Given the description of an element on the screen output the (x, y) to click on. 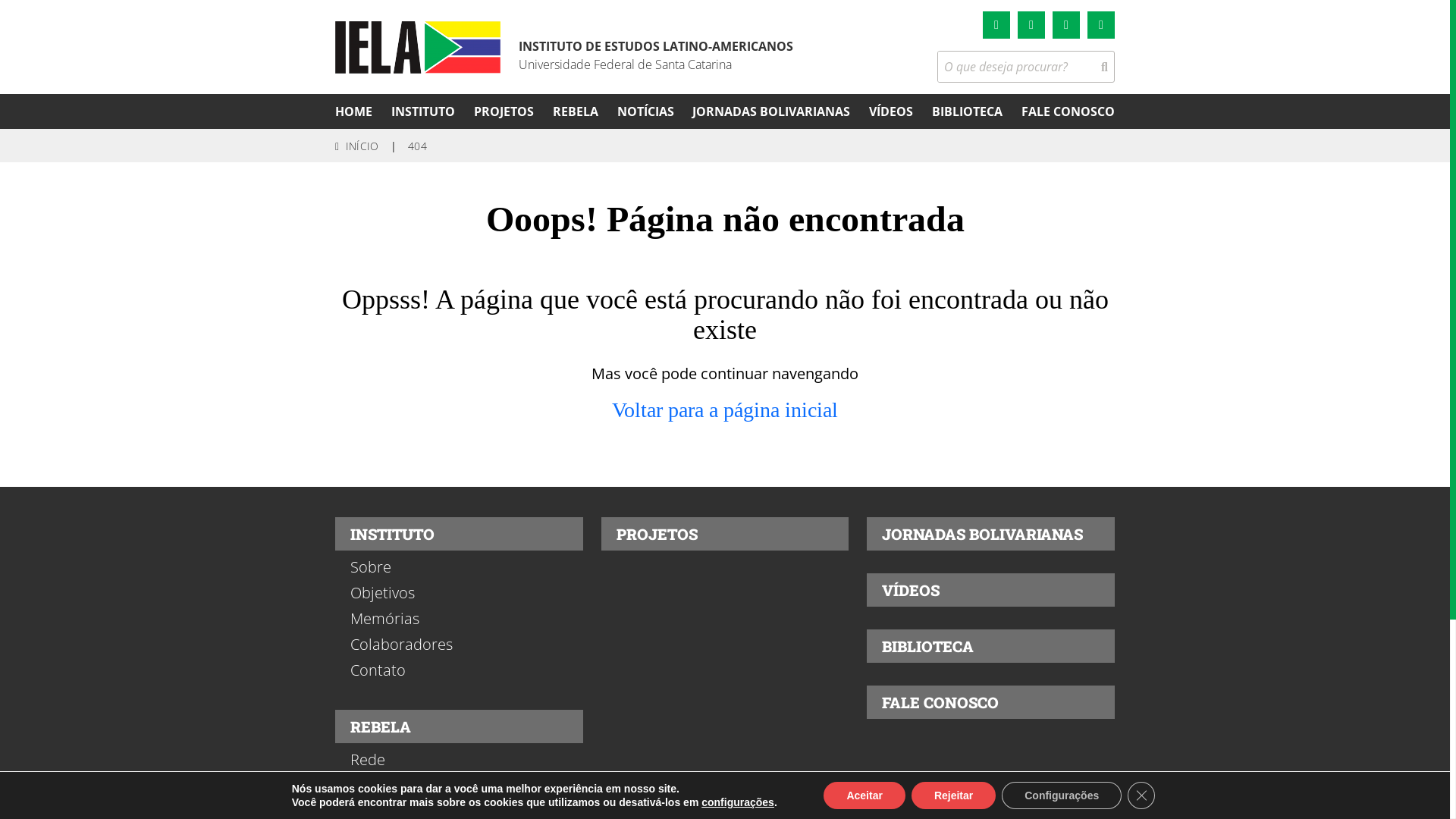
Rede Element type: text (458, 759)
PROJETOS Element type: text (503, 111)
FALE CONOSCO Element type: text (990, 701)
Rejeitar Element type: text (953, 795)
Revista Element type: text (458, 785)
BIBLIOTECA Element type: text (966, 111)
FALE CONOSCO Element type: text (1067, 111)
Objetivos Element type: text (458, 592)
INSTITUTO Element type: text (423, 111)
Aceitar Element type: text (863, 795)
Sobre Element type: text (458, 567)
REBELA Element type: text (575, 111)
JORNADAS BOLIVARIANAS Element type: text (771, 111)
BIBLIOTECA Element type: text (990, 645)
Contato Element type: text (458, 670)
REBELA Element type: text (459, 726)
IELA Element type: hover (417, 47)
JORNADAS BOLIVARIANAS Element type: text (990, 533)
Busque por palavra-chave Element type: hover (1016, 66)
Colaboradores Element type: text (458, 644)
Close GDPR Cookie Banner Element type: text (1140, 795)
PROJETOS Element type: text (725, 533)
HOME Element type: text (353, 111)
404 Element type: text (416, 145)
INSTITUTO Element type: text (459, 533)
